Given the description of an element on the screen output the (x, y) to click on. 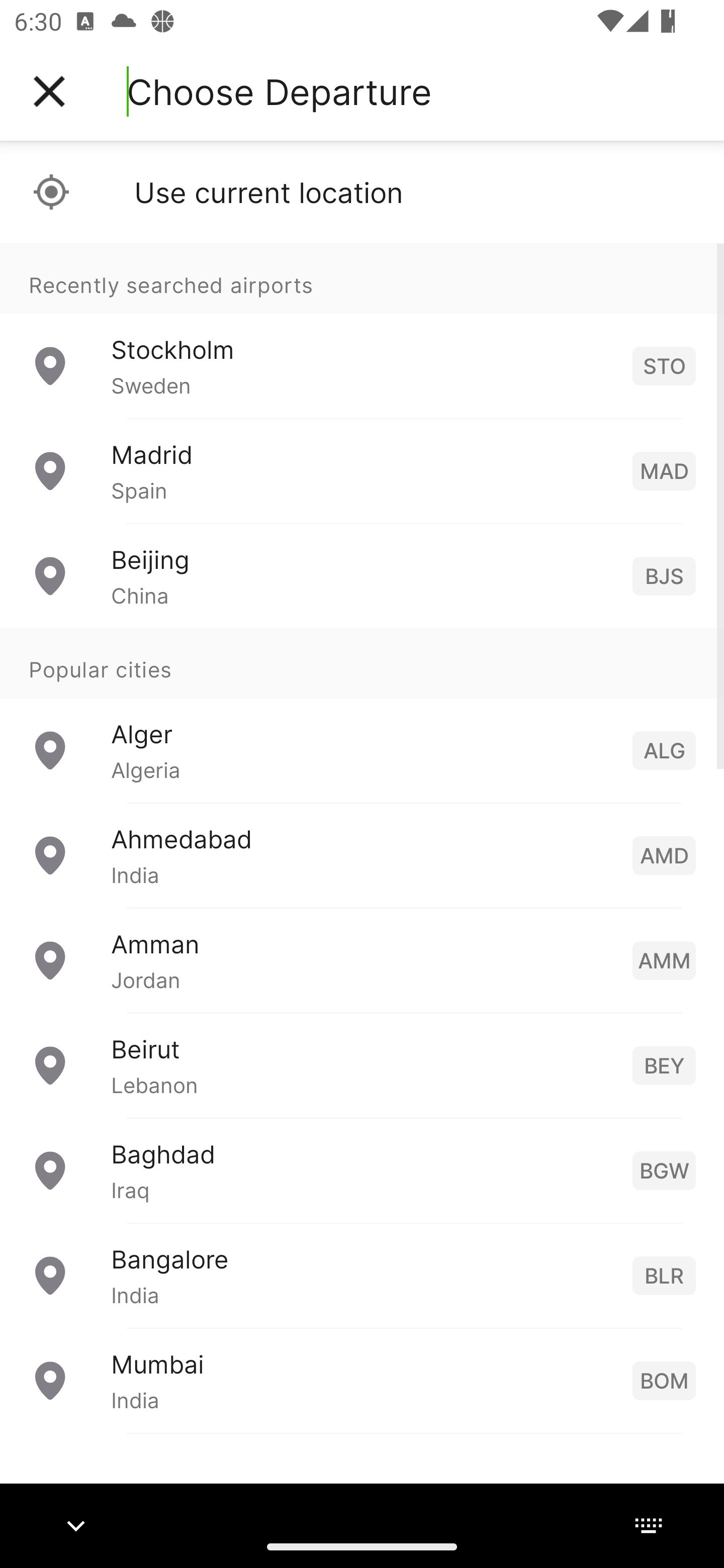
Choose Departure (279, 91)
Use current location (362, 192)
Recently searched airports Stockholm Sweden STO (362, 330)
Recently searched airports (362, 278)
Madrid Spain MAD (362, 470)
Beijing China BJS (362, 575)
Popular cities Alger Algeria ALG (362, 715)
Popular cities (362, 663)
Ahmedabad India AMD (362, 854)
Amman Jordan AMM (362, 959)
Beirut Lebanon BEY (362, 1064)
Baghdad Iraq BGW (362, 1170)
Bangalore India BLR (362, 1275)
Mumbai India BOM (362, 1380)
